Given the description of an element on the screen output the (x, y) to click on. 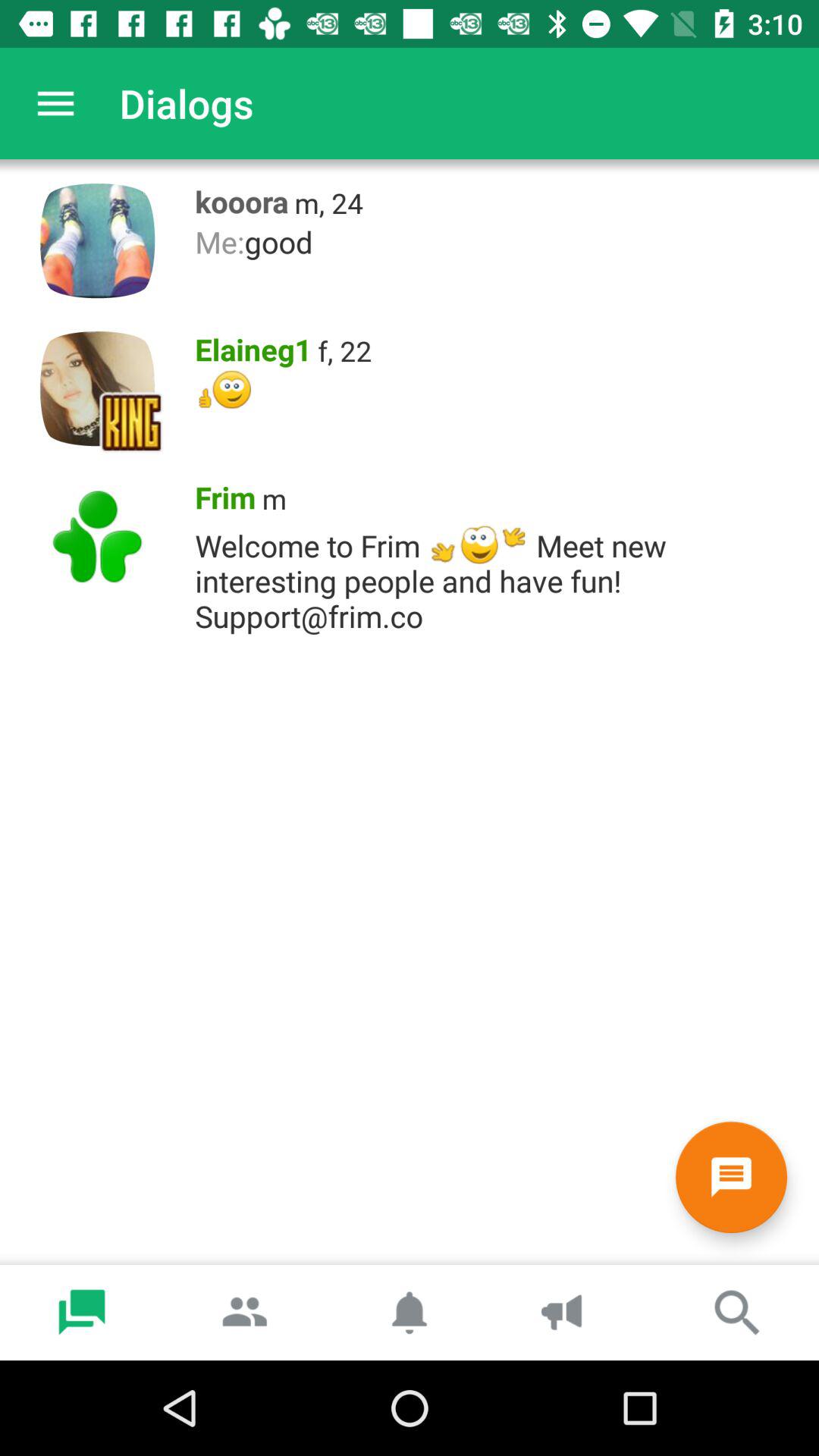
turn off icon below kooora item (499, 241)
